Given the description of an element on the screen output the (x, y) to click on. 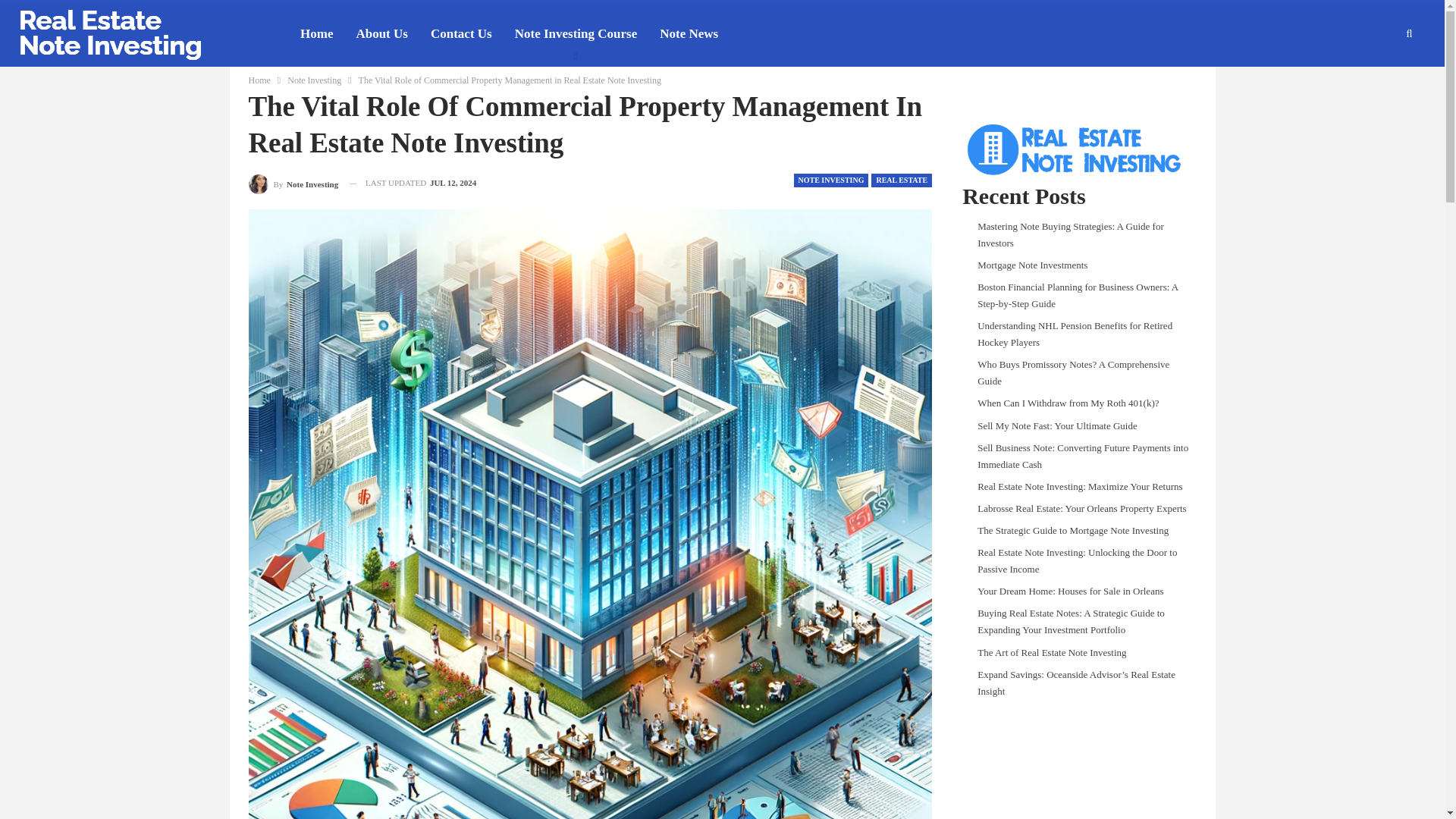
Contact Us (461, 34)
Note News (688, 34)
REAL ESTATE (900, 180)
Home (259, 80)
Note Investing (313, 80)
Note Investing Course (576, 34)
By Note Investing (293, 182)
Browse Author Articles (293, 182)
NOTE INVESTING (830, 180)
